Given the description of an element on the screen output the (x, y) to click on. 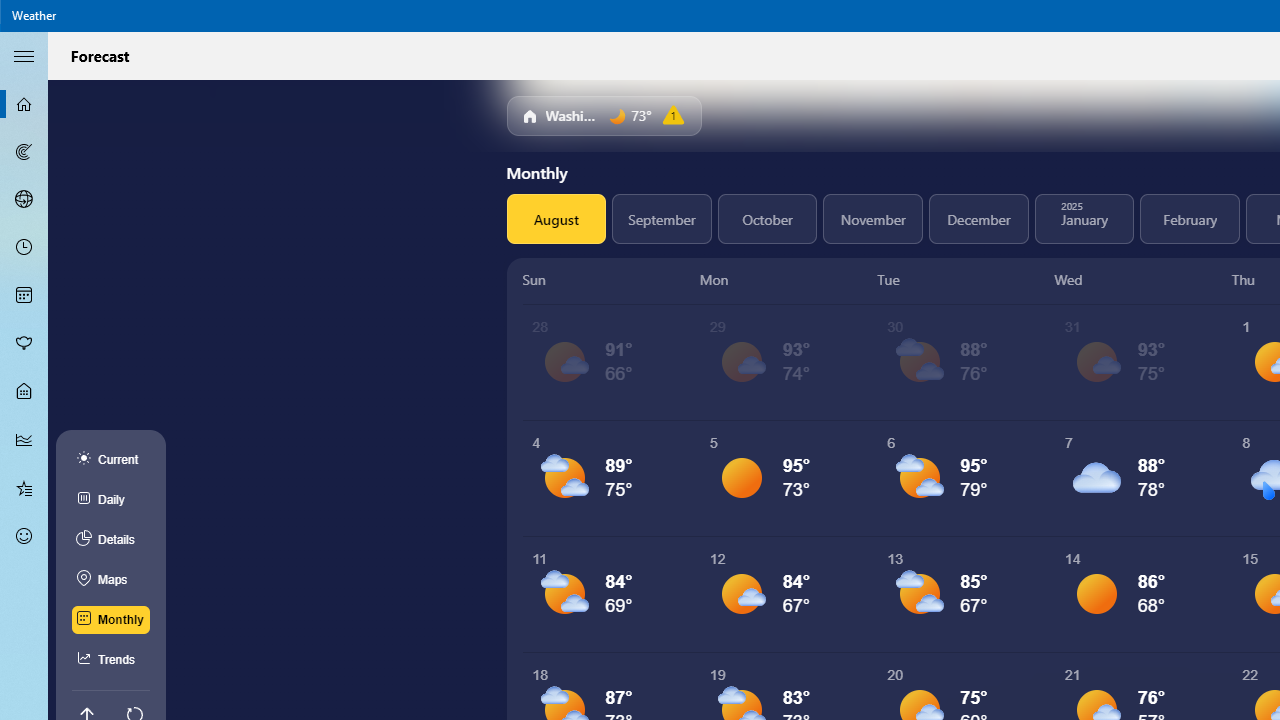
Monthly Forecast - Not Selected (24, 295)
Pollen - Not Selected (24, 343)
Send Feedback - Not Selected (24, 535)
3D Maps - Not Selected (24, 199)
Send Feedback - Not Selected (24, 535)
Life - Not Selected (24, 391)
